Given the description of an element on the screen output the (x, y) to click on. 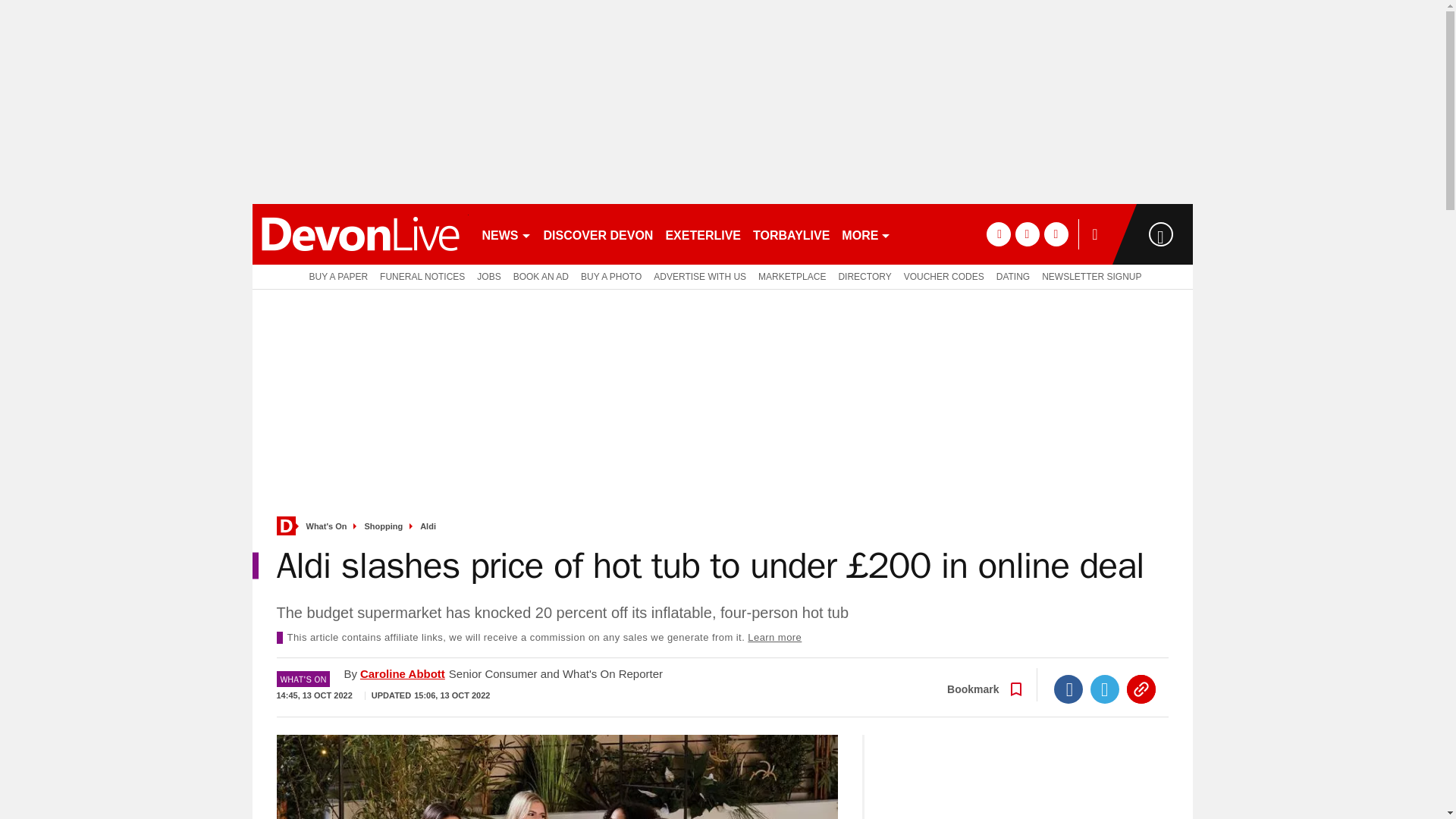
NEWS (506, 233)
DISCOVER DEVON (598, 233)
EXETERLIVE (702, 233)
TORBAYLIVE (790, 233)
devonlive (359, 233)
facebook (997, 233)
Facebook (1068, 688)
instagram (1055, 233)
MORE (865, 233)
twitter (1026, 233)
